Given the description of an element on the screen output the (x, y) to click on. 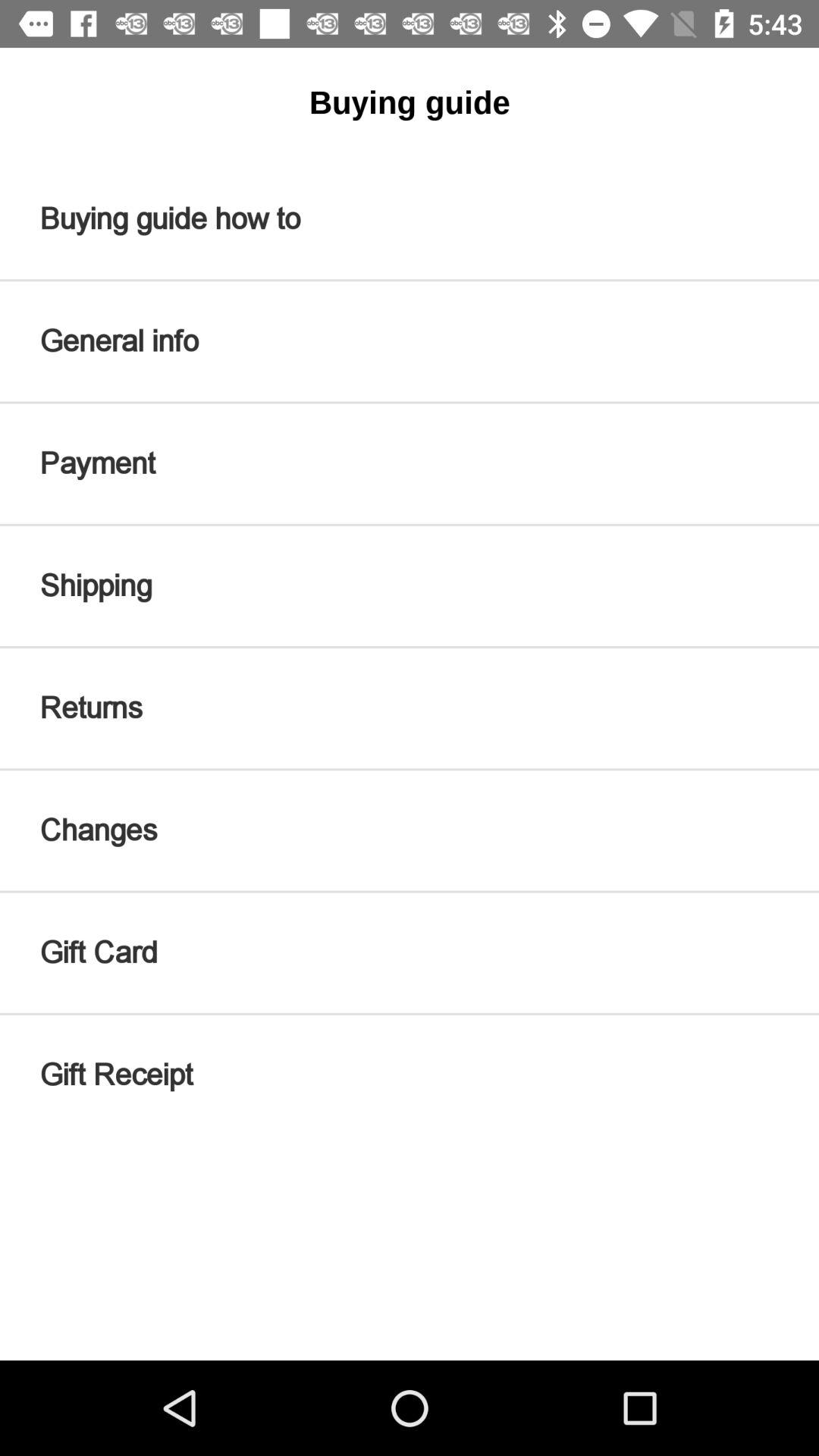
launch general info (409, 341)
